Given the description of an element on the screen output the (x, y) to click on. 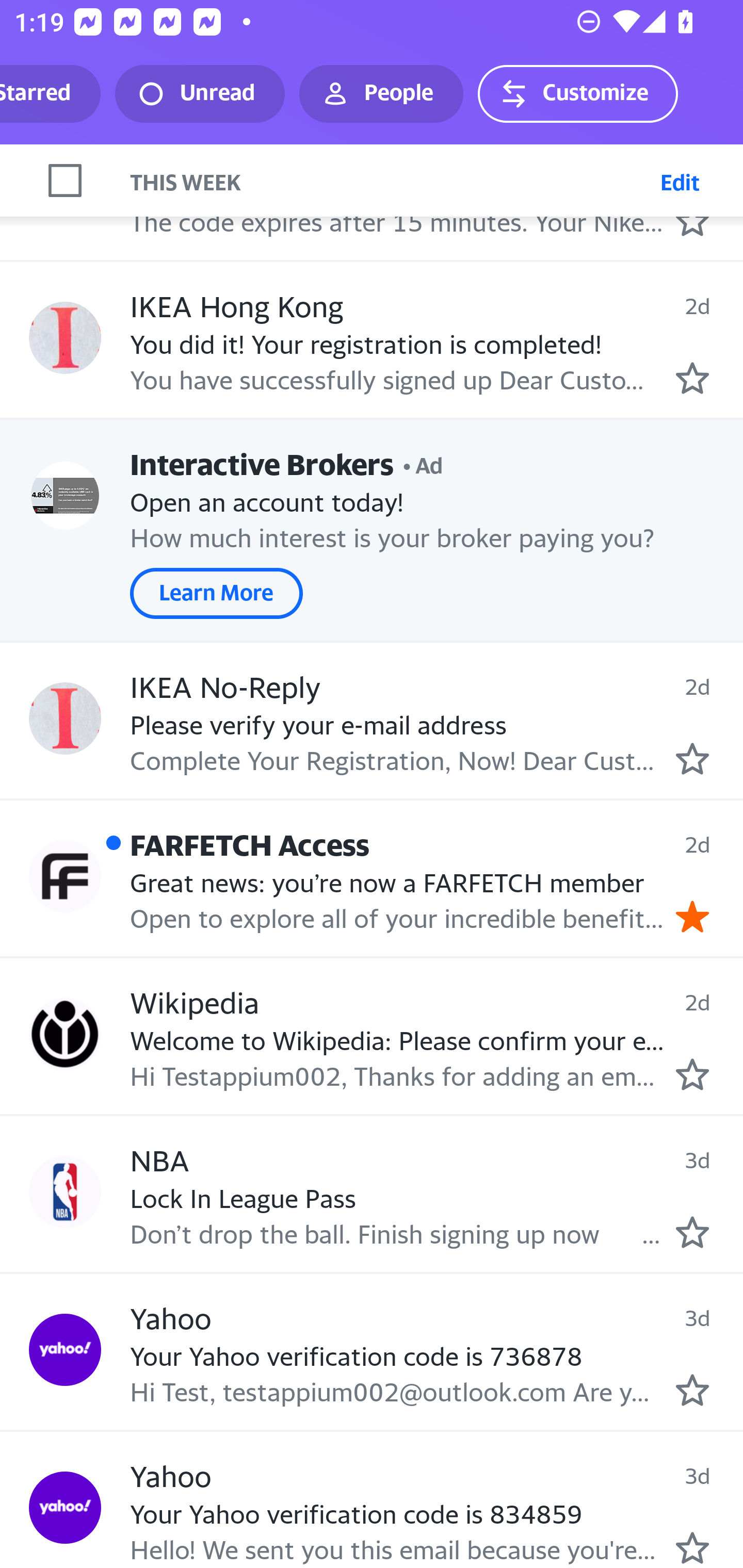
Unread (199, 93)
People (381, 93)
Customize (577, 93)
Profile
Nike (64, 180)
Mark as starred. (692, 220)
Profile
IKEA Hong Kong (64, 337)
Mark as starred. (692, 378)
Profile
IKEA No-Reply (64, 718)
Mark as starred. (692, 758)
Profile
FARFETCH Access (64, 876)
Remove star. (692, 916)
Profile
Wikipedia (64, 1034)
Mark as starred. (692, 1074)
Profile
NBA (64, 1191)
Mark as starred. (692, 1231)
Profile
Yahoo (64, 1349)
Mark as starred. (692, 1390)
Profile
Yahoo (64, 1507)
Mark as starred. (692, 1548)
